Given the description of an element on the screen output the (x, y) to click on. 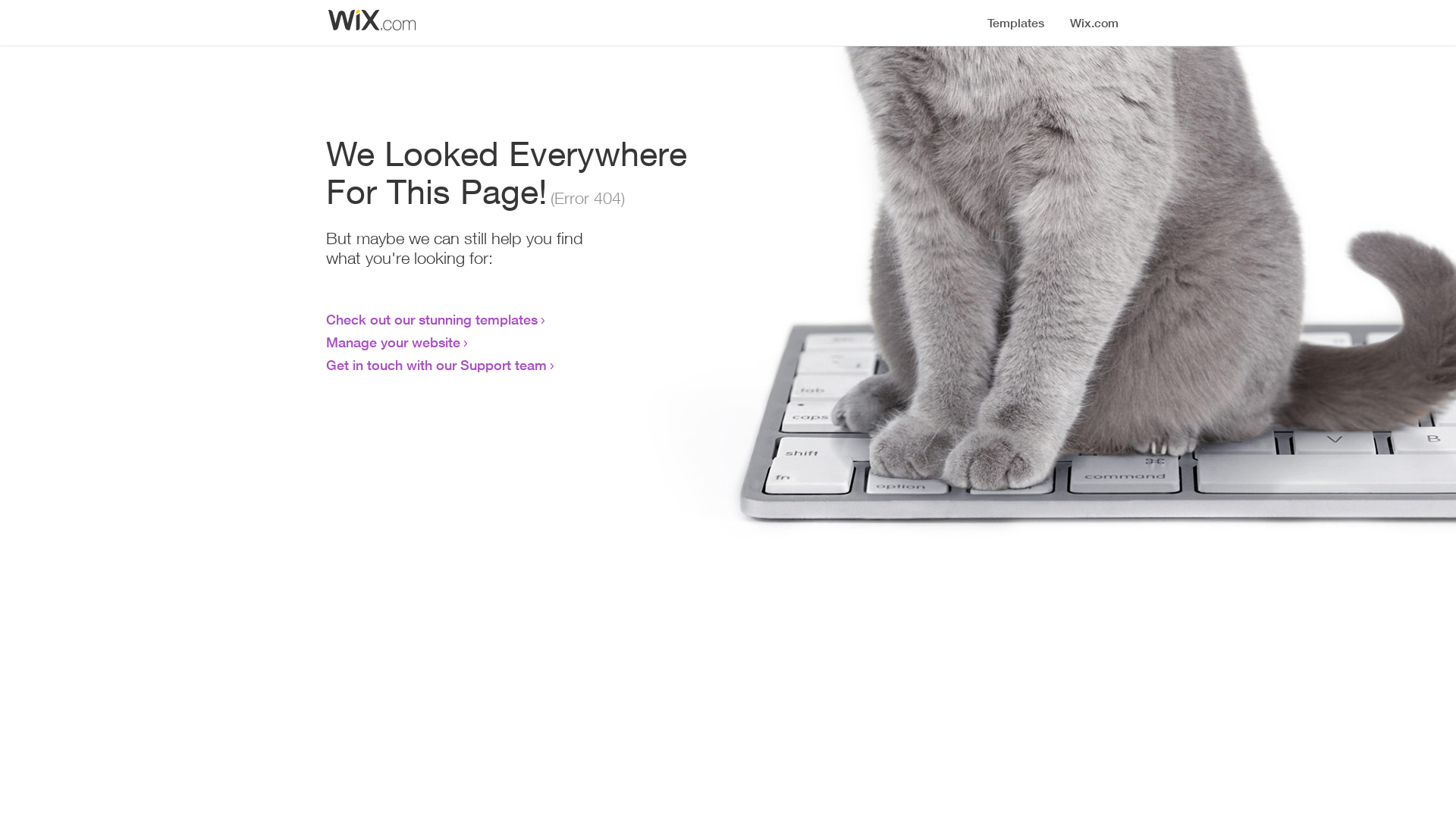
Manage your website Element type: text (393, 341)
Get in touch with our Support team Element type: text (436, 364)
Check out our stunning templates Element type: text (431, 318)
